Given the description of an element on the screen output the (x, y) to click on. 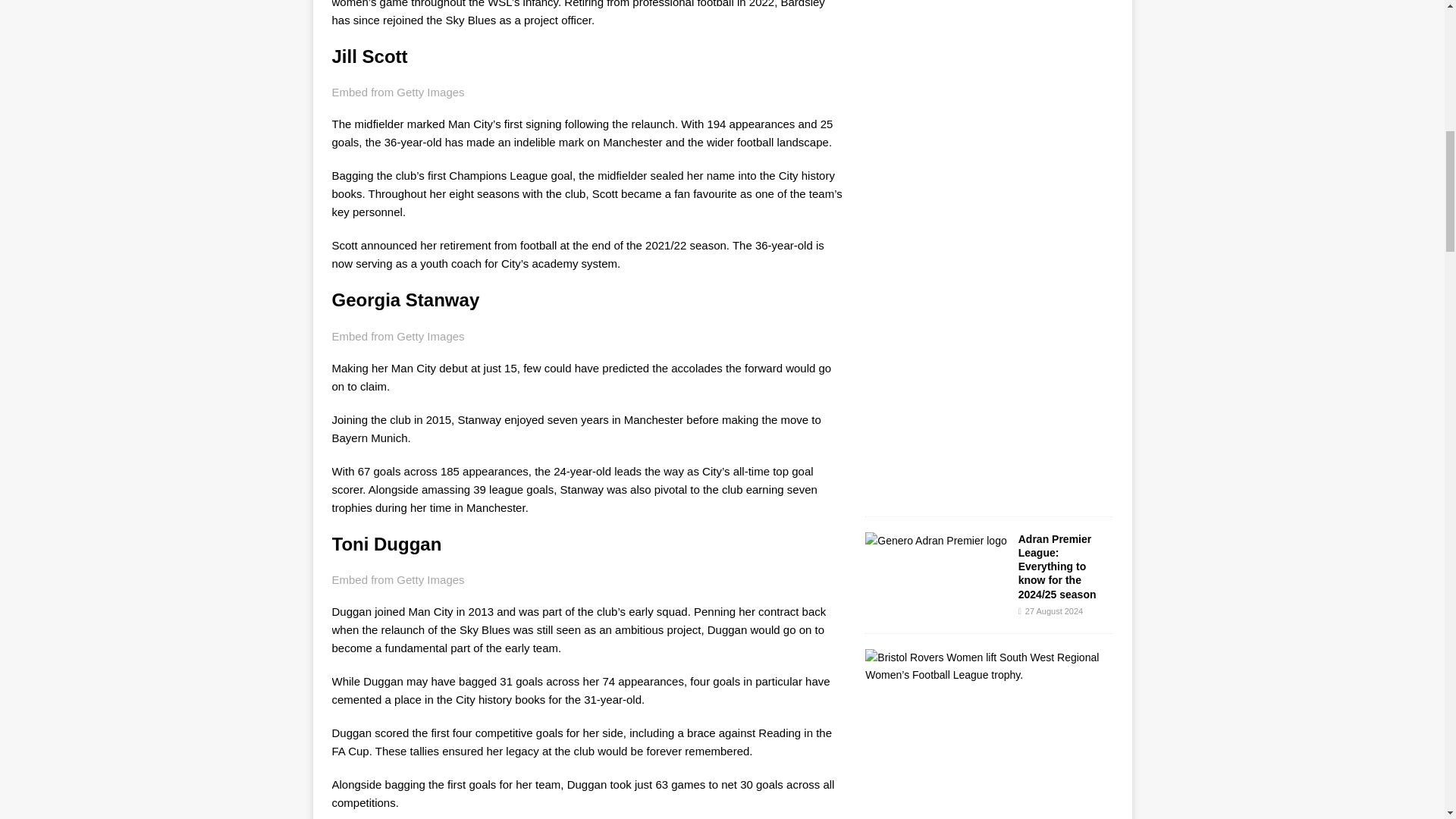
Embed from Getty Images (397, 92)
Embed from Getty Images (397, 336)
Embed from Getty Images (397, 579)
